Given the description of an element on the screen output the (x, y) to click on. 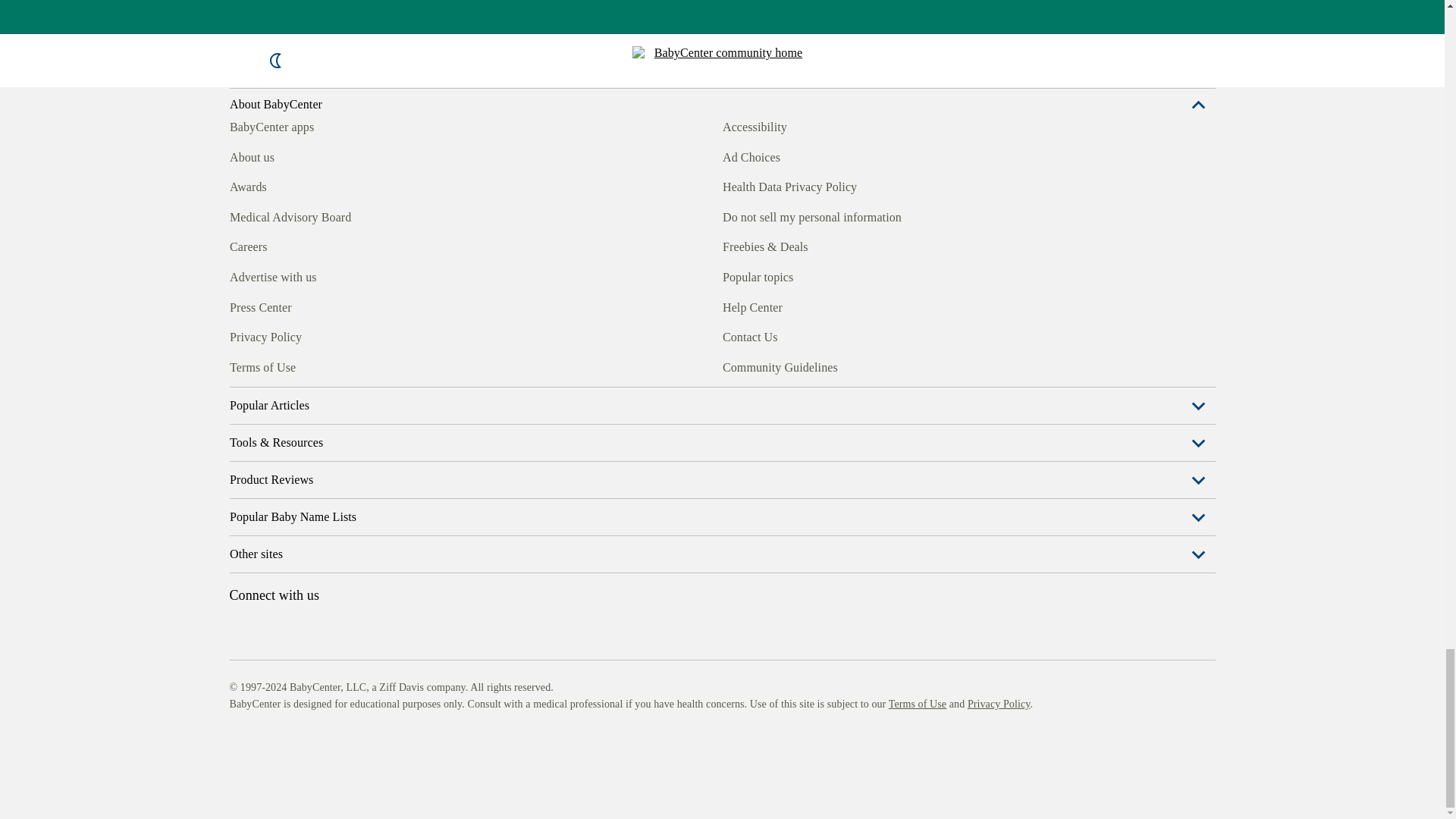
BabyCenter Pinterest board (309, 576)
BabyCenter Twitter feed (379, 576)
BabyCenter YouTube channel (344, 576)
BabyCenter Instagram feed (274, 576)
BabyCenter Facebook page (239, 576)
